Given the description of an element on the screen output the (x, y) to click on. 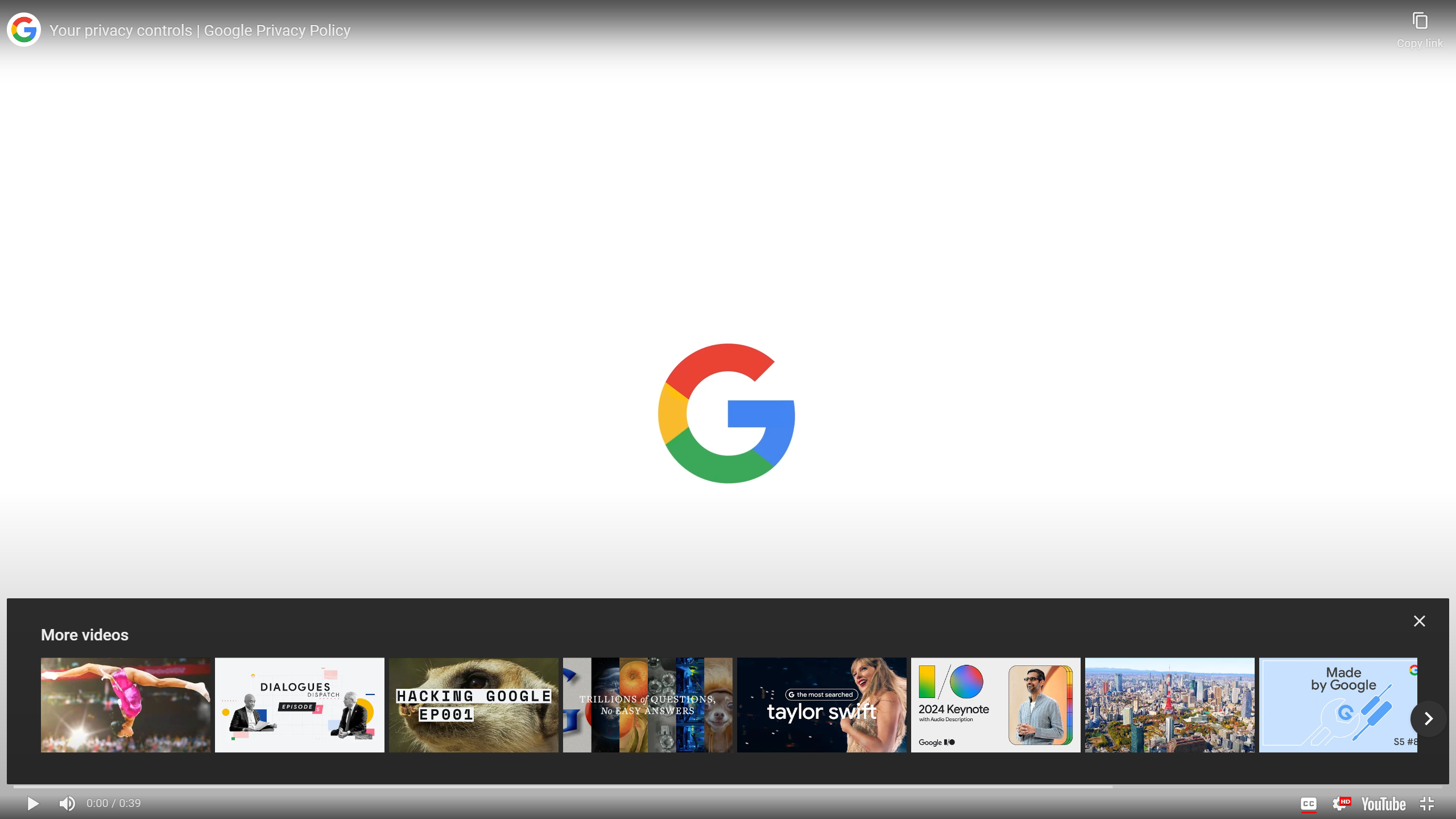
Hide more videos (1419, 620)
Threat Analysis Group | HACKING GOOGLE | Documentary EP001 (473, 704)
Subtitles/closed captions unavailable (1307, 803)
Year in Search 2012: Year In Review (125, 704)
